Given the description of an element on the screen output the (x, y) to click on. 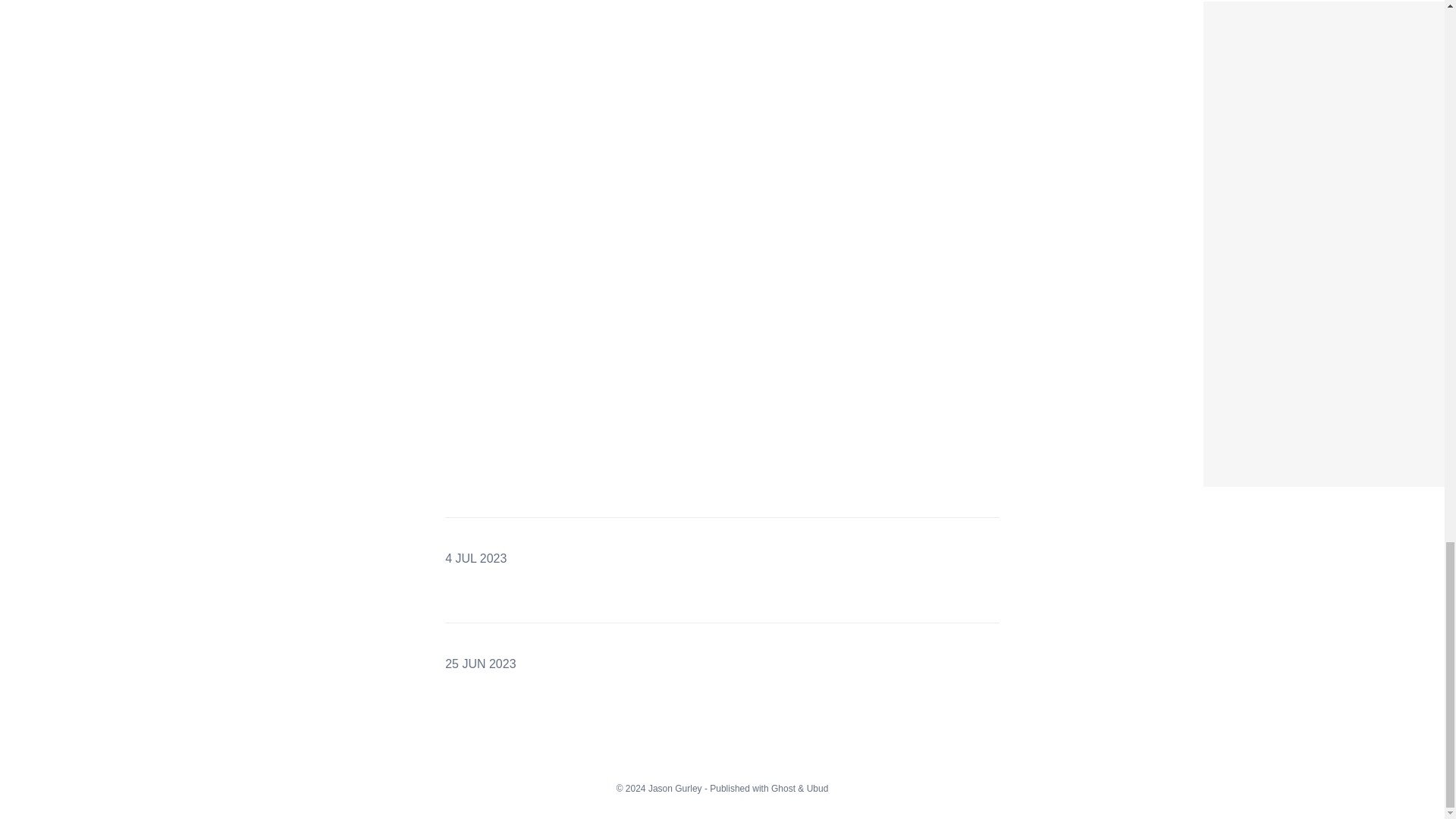
Ubud (817, 787)
Ghost (782, 787)
Design books are open! (1281, 11)
